Given the description of an element on the screen output the (x, y) to click on. 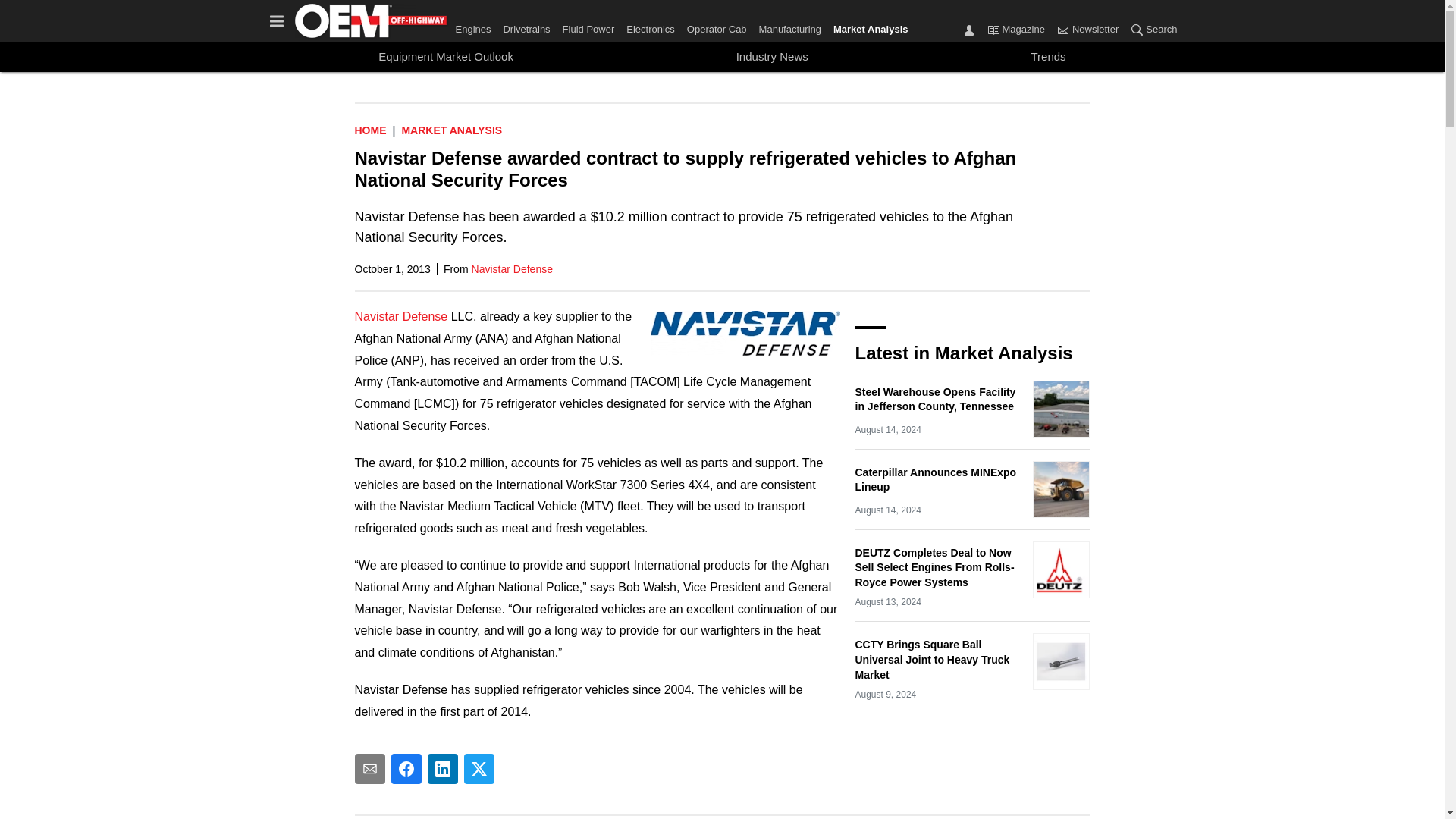
Manufacturing (789, 26)
Drivetrains (526, 26)
Newsletter (1087, 29)
Share To linkedin (443, 768)
Home (371, 130)
Share To facebook (406, 768)
Industry News (772, 56)
Magazine (992, 29)
Market Analysis (451, 130)
Search (1136, 29)
